Given the description of an element on the screen output the (x, y) to click on. 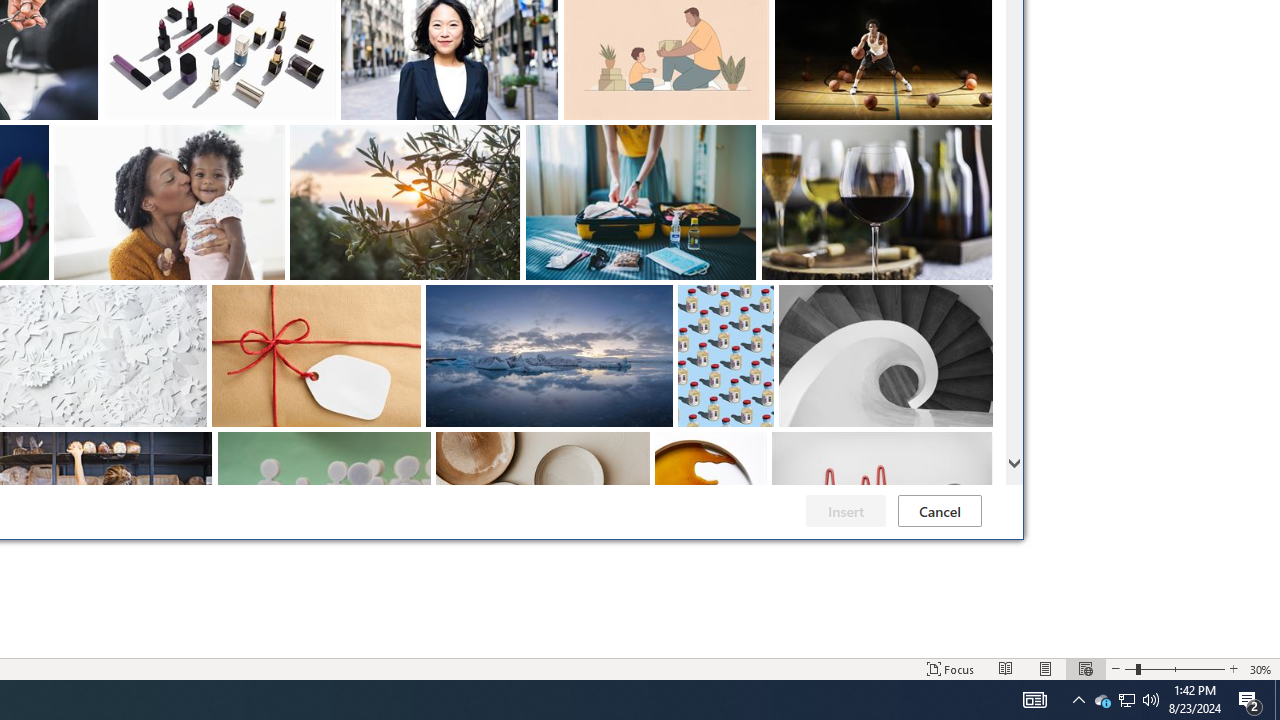
Zoom 30% (1102, 699)
Thumbnail (1261, 668)
Read Mode (977, 447)
Print Layout (1005, 668)
Zoom (1046, 668)
Web Layout (1174, 668)
AutomationID: 4105 (1085, 668)
